Given the description of an element on the screen output the (x, y) to click on. 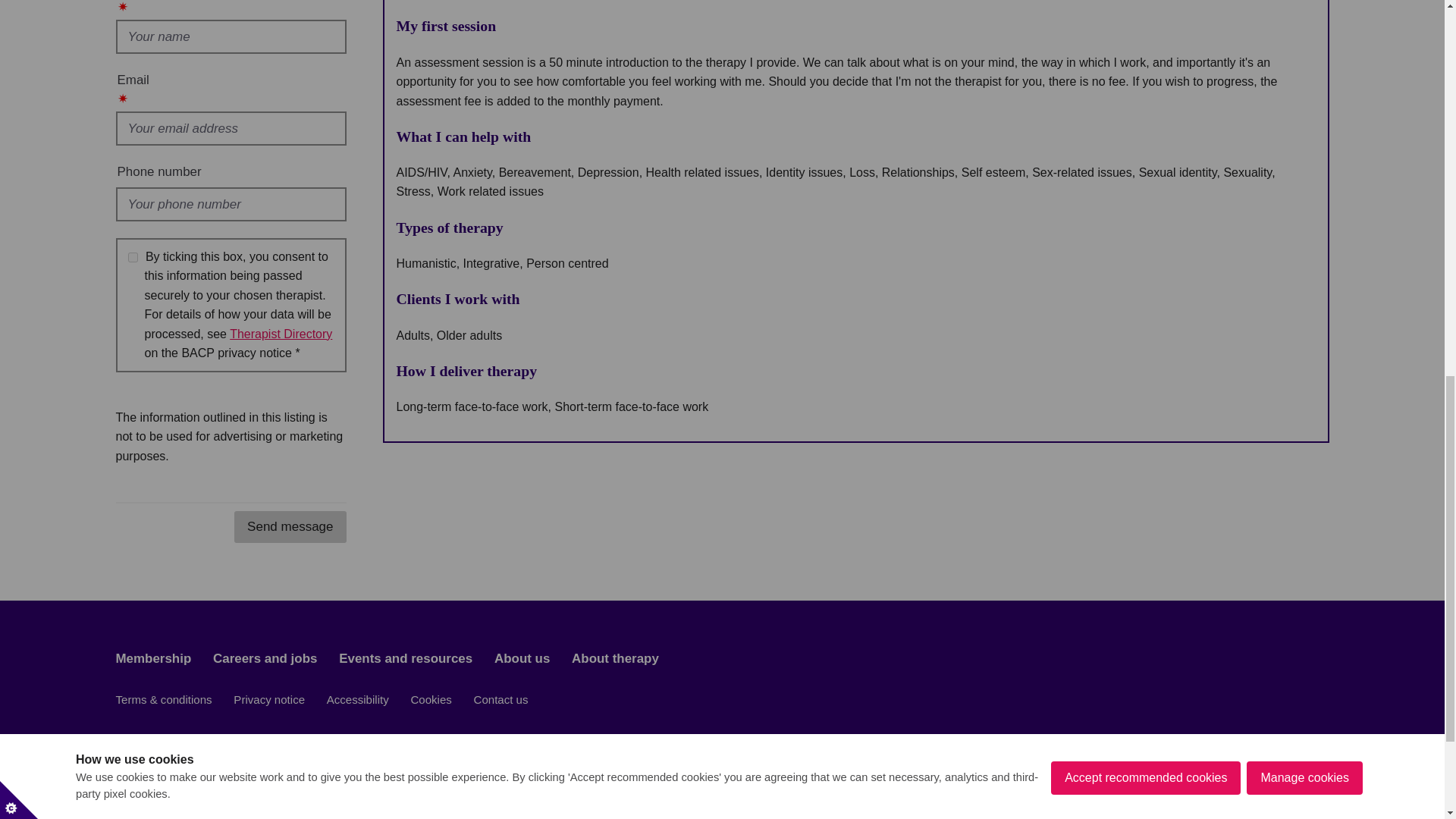
Accept recommended cookies (1145, 12)
Manage cookies (1304, 6)
Privacy (280, 333)
true (132, 257)
